Given the description of an element on the screen output the (x, y) to click on. 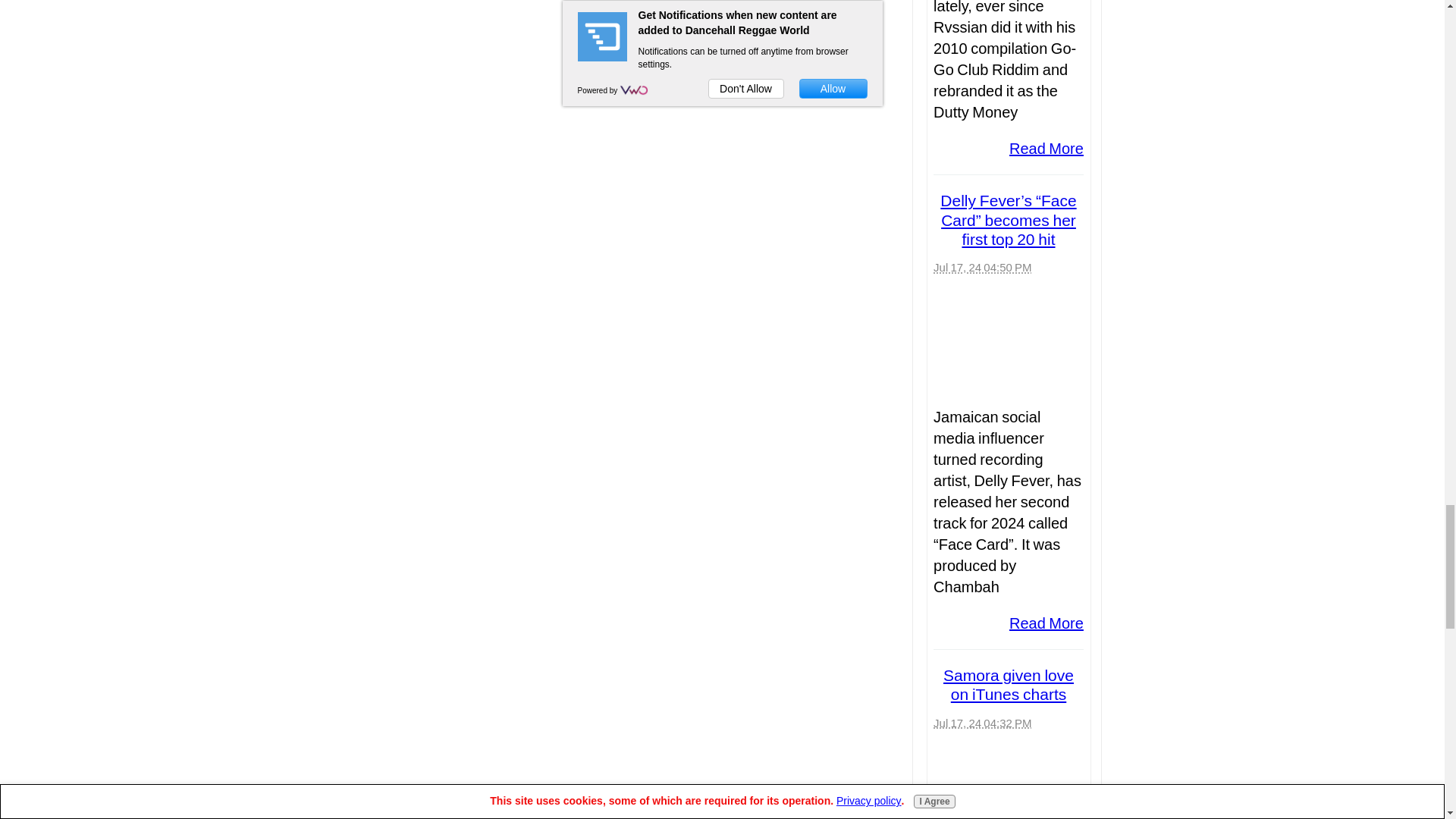
2024-07-17T16:50:42-0400 (981, 267)
2024-07-17T16:32:40-0400 (981, 722)
